Given the description of an element on the screen output the (x, y) to click on. 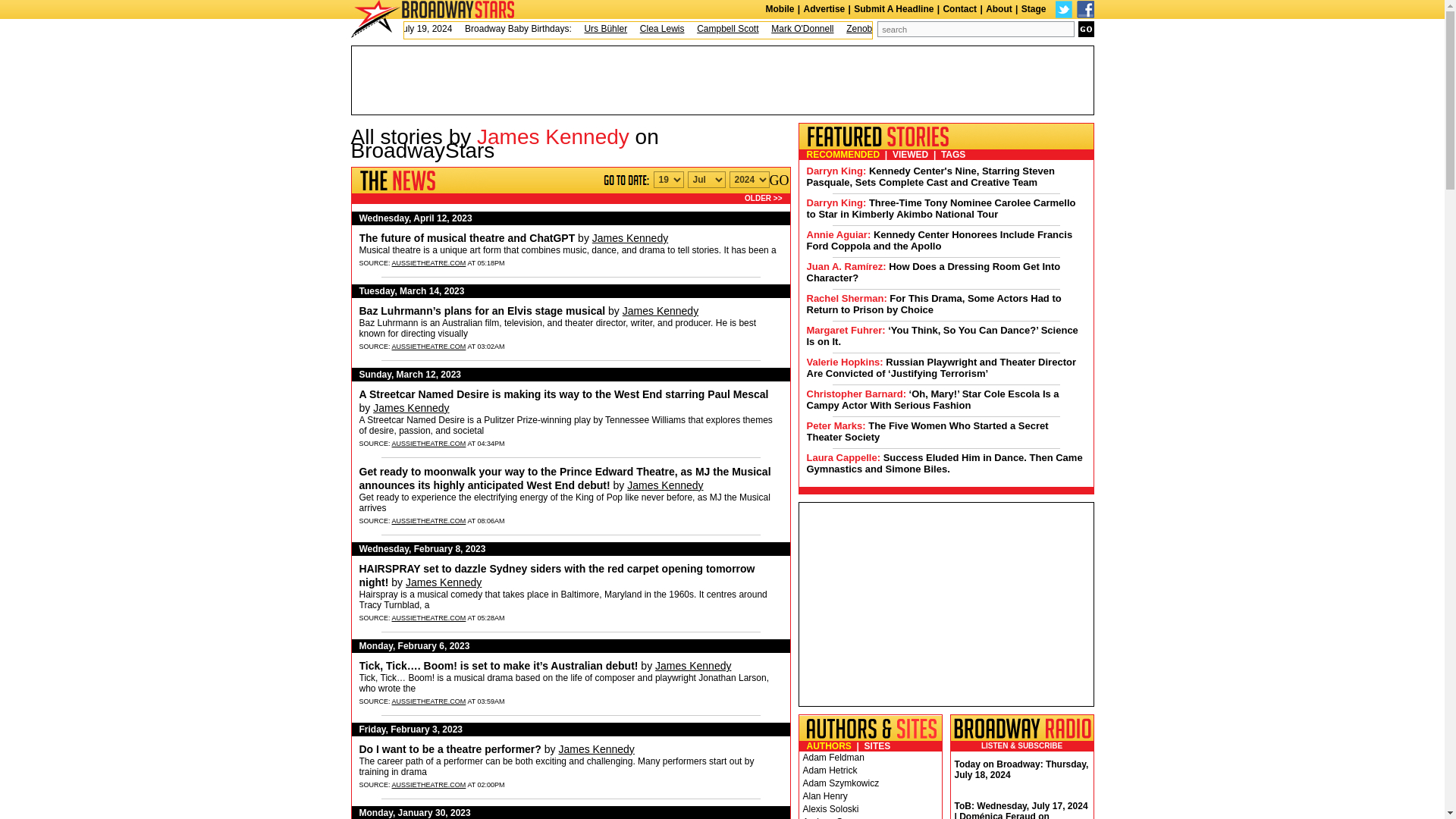
About (998, 9)
Get all stories by James Kennedy on BroadwayStars (630, 237)
Get all stories by James Kennedy on BroadwayStars (443, 582)
AussieTheatre.com (499, 665)
Get all stories by James Kennedy on BroadwayStars (410, 408)
Facebook (1085, 9)
Contact (959, 9)
Mobile (779, 9)
AussieTheatre.com (563, 394)
AussieTheatre.com (565, 478)
Campbell Scott (727, 28)
Stage (1034, 9)
Clea Lewis (662, 28)
GO (777, 180)
James Kennedy (621, 237)
